Given the description of an element on the screen output the (x, y) to click on. 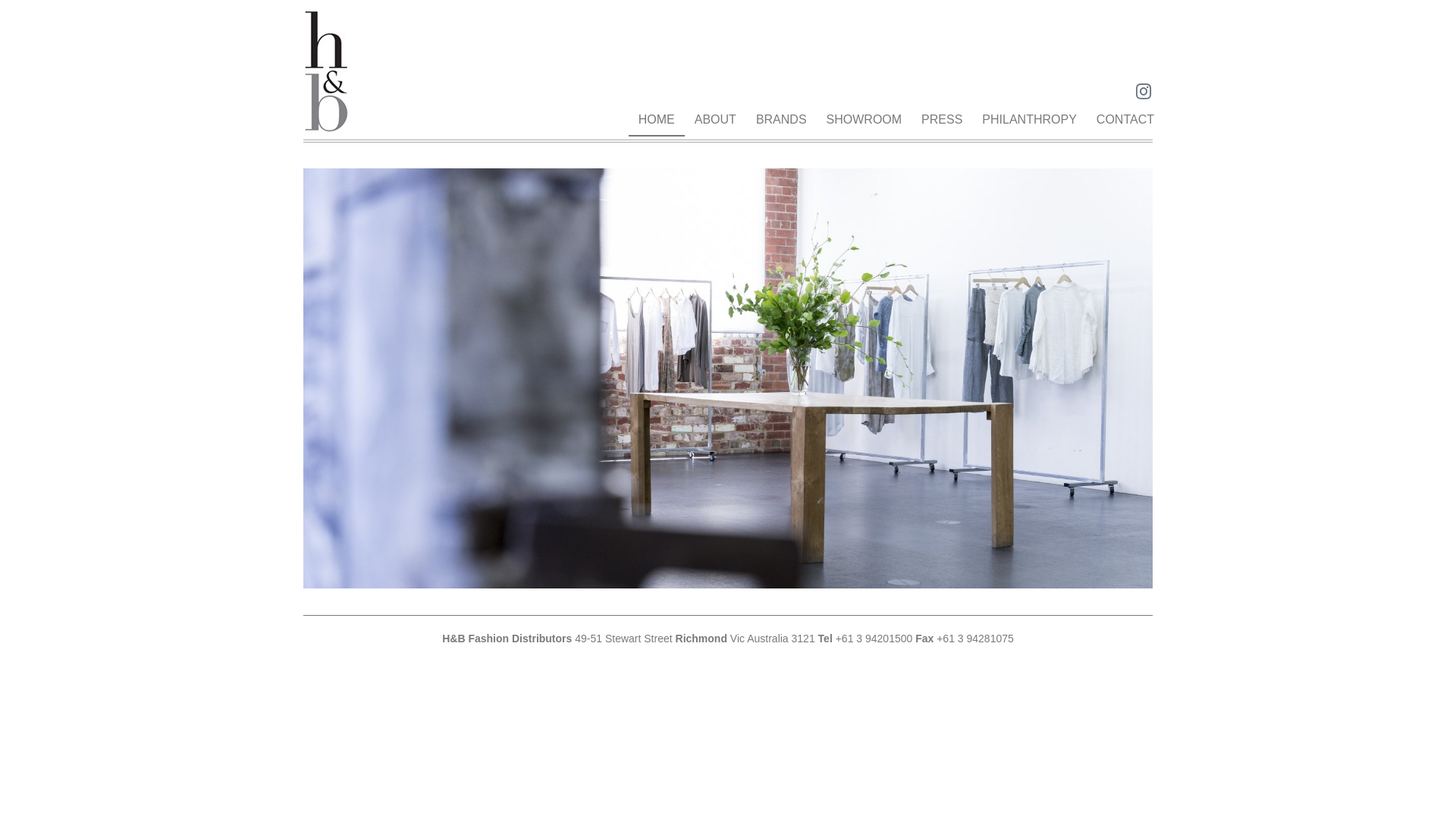
SHOWROOM Element type: text (864, 119)
CONTACT Element type: text (1125, 119)
ABOUT Element type: text (715, 119)
HOME Element type: text (656, 119)
PHILANTHROPY Element type: text (1028, 119)
PRESS Element type: text (941, 119)
BRANDS Element type: text (781, 119)
